Given the description of an element on the screen output the (x, y) to click on. 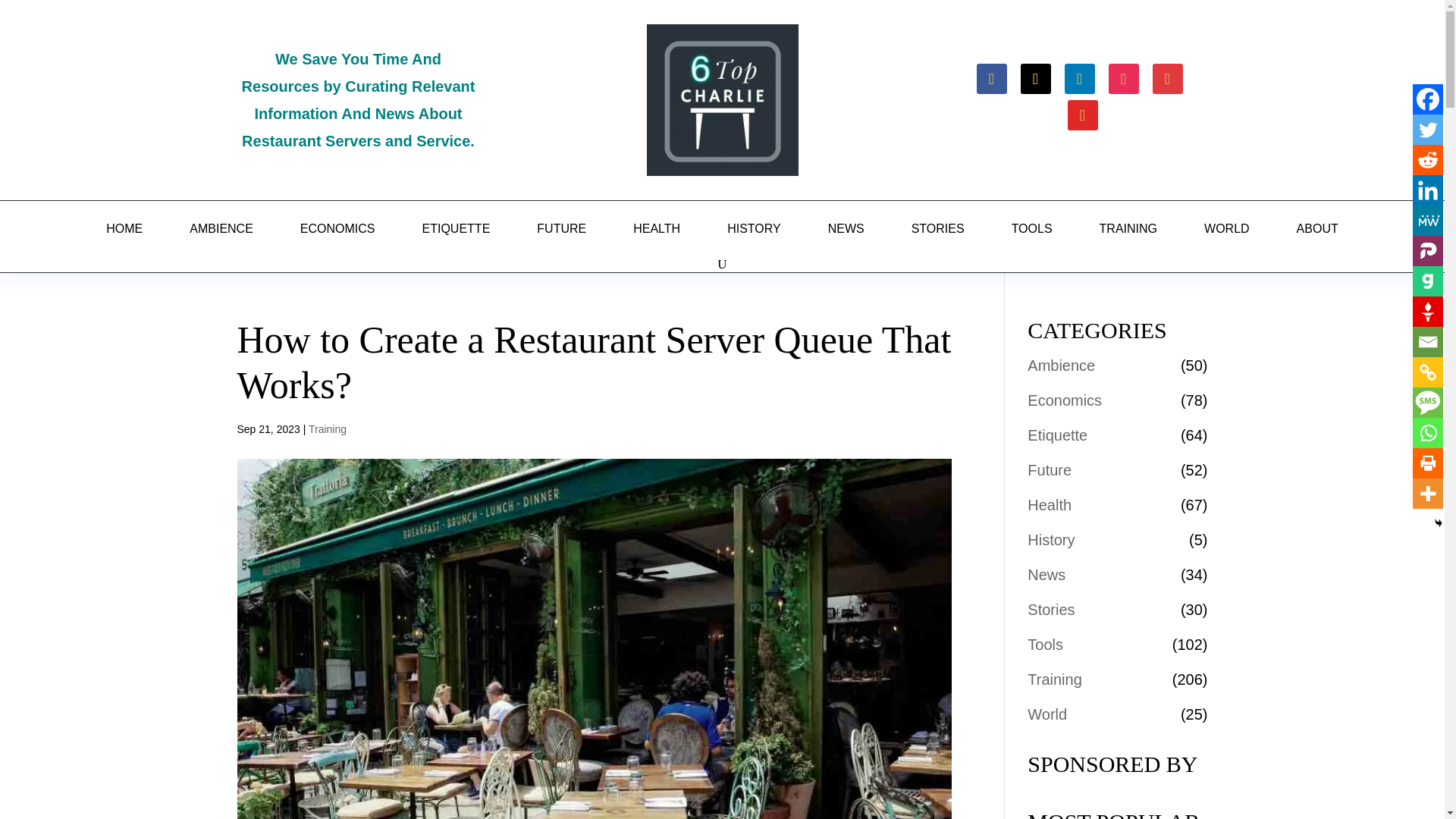
WORLD (1227, 228)
six-top-charlie-logo (721, 100)
Follow on Meetup (1167, 78)
Follow on Facebook (991, 78)
ETIQUETTE (456, 228)
Follow on Instagram (1123, 78)
TOOLS (1031, 228)
HOME (123, 228)
Training (327, 428)
ABOUT (1317, 228)
ECONOMICS (337, 228)
HEALTH (656, 228)
FUTURE (561, 228)
Follow on LinkedIn (1079, 78)
HISTORY (753, 228)
